Given the description of an element on the screen output the (x, y) to click on. 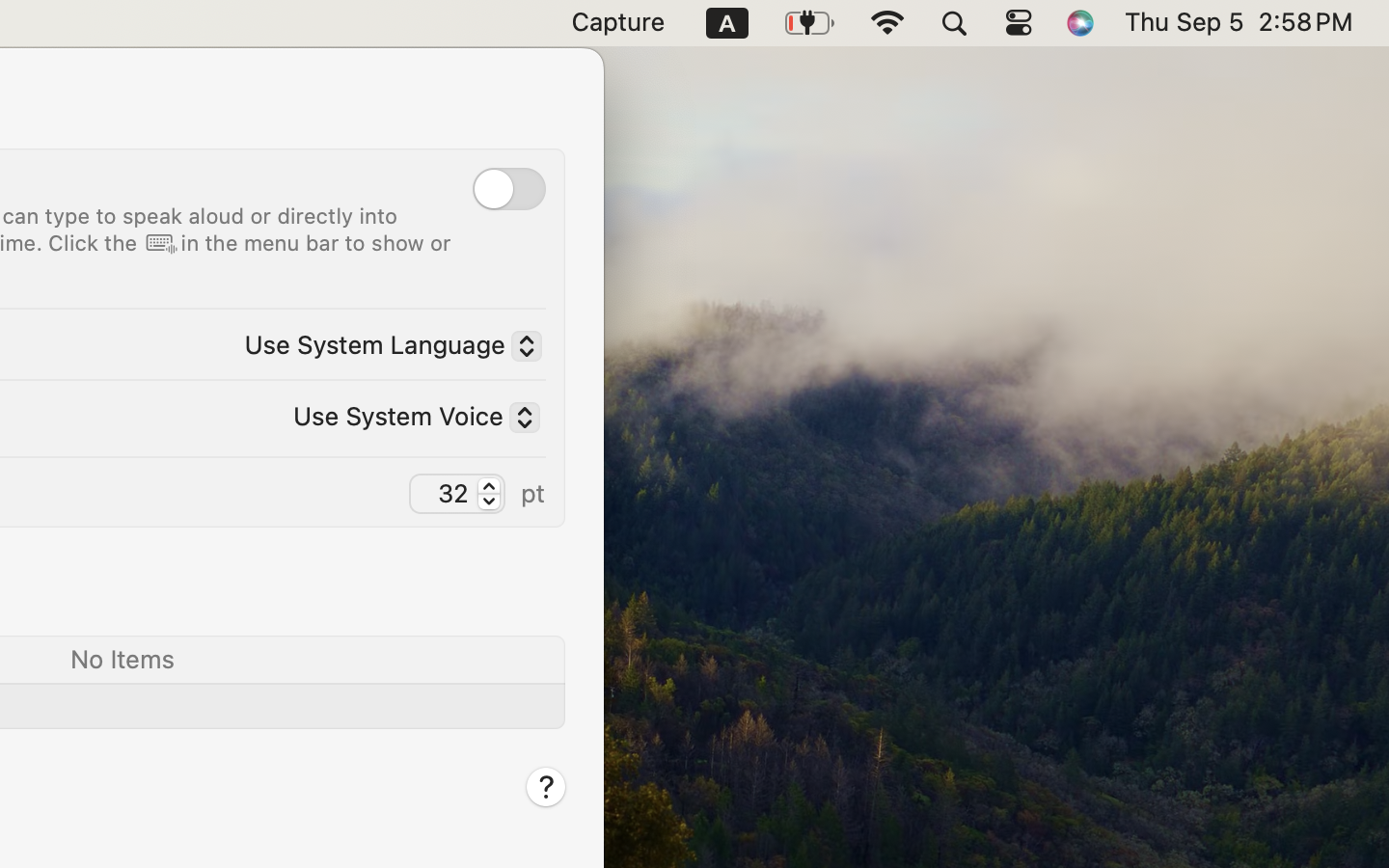
No Items Element type: AXStaticText (121, 657)
32 Element type: AXTextField (456, 492)
32.0 Element type: AXIncrementor (487, 493)
Use System Language Element type: AXPopUpButton (384, 348)
